Given the description of an element on the screen output the (x, y) to click on. 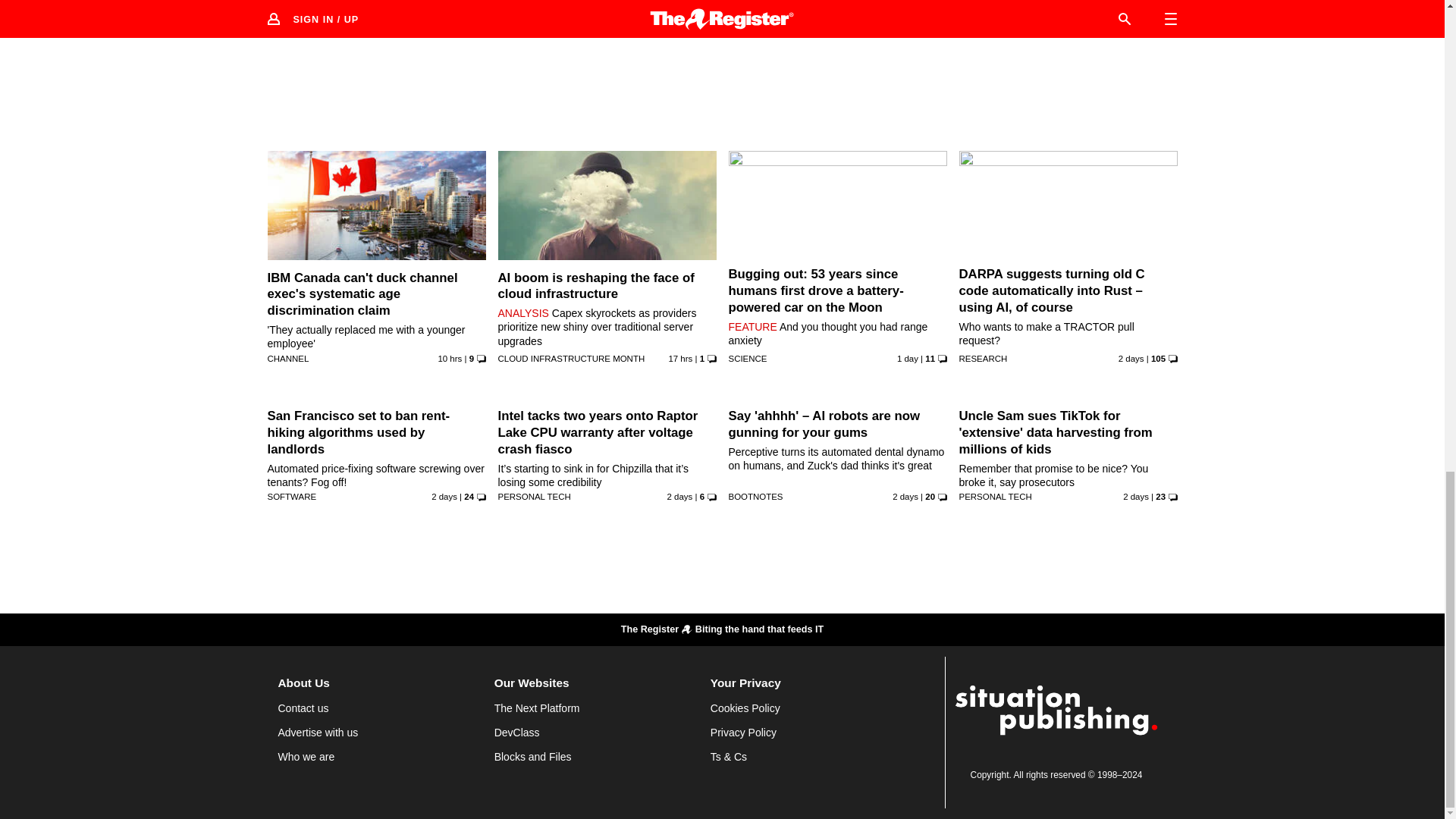
3 Aug 2024 10:3 (1131, 358)
2 Aug 2024 21:57 (443, 496)
5 Aug 2024 2:0 (454, 17)
4 Aug 2024 17:20 (449, 358)
3 Aug 2024 19:2 (907, 358)
4 Aug 2024 18:42 (913, 17)
2 Aug 2024 20:14 (679, 496)
5 Aug 2024 1:0 (687, 17)
4 Aug 2024 11:0 (680, 358)
